Given the description of an element on the screen output the (x, y) to click on. 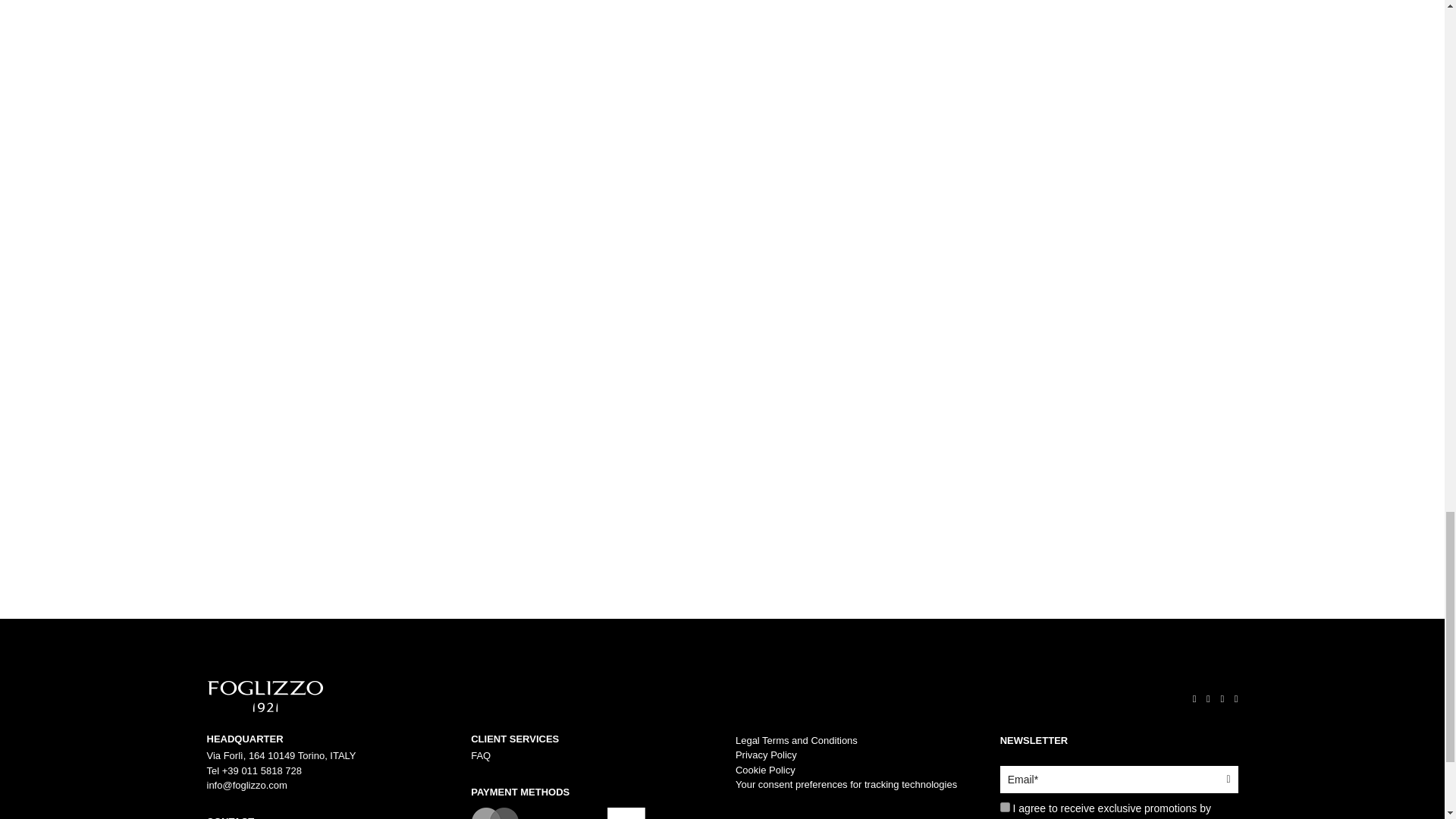
FAQ (480, 755)
Privacy Policy (765, 754)
CONTACT (325, 817)
Terms and Conditions (796, 740)
on (1005, 807)
Cookie Policy (764, 769)
